Given the description of an element on the screen output the (x, y) to click on. 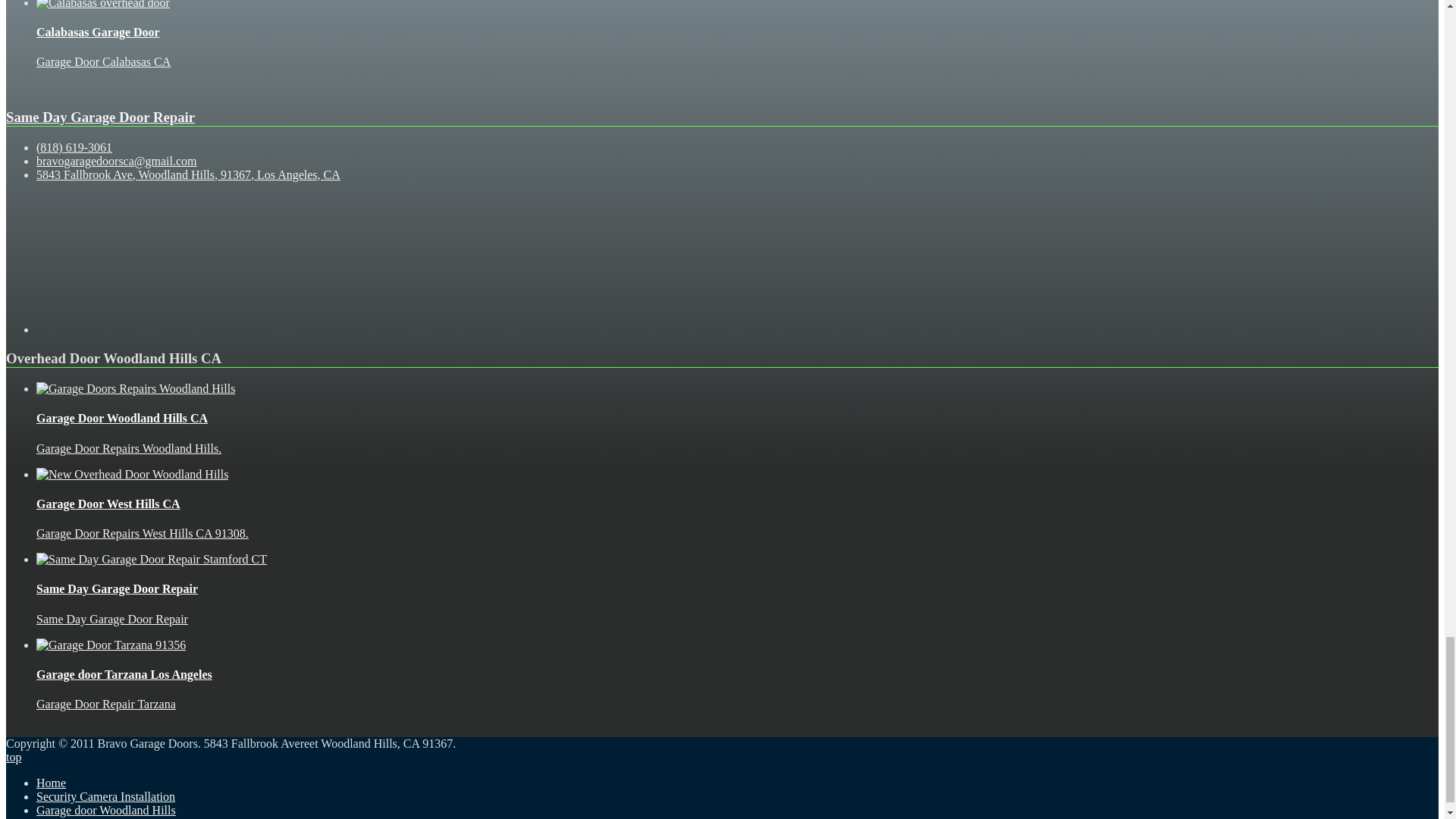
Security Camera Installation New York (105, 796)
